Given the description of an element on the screen output the (x, y) to click on. 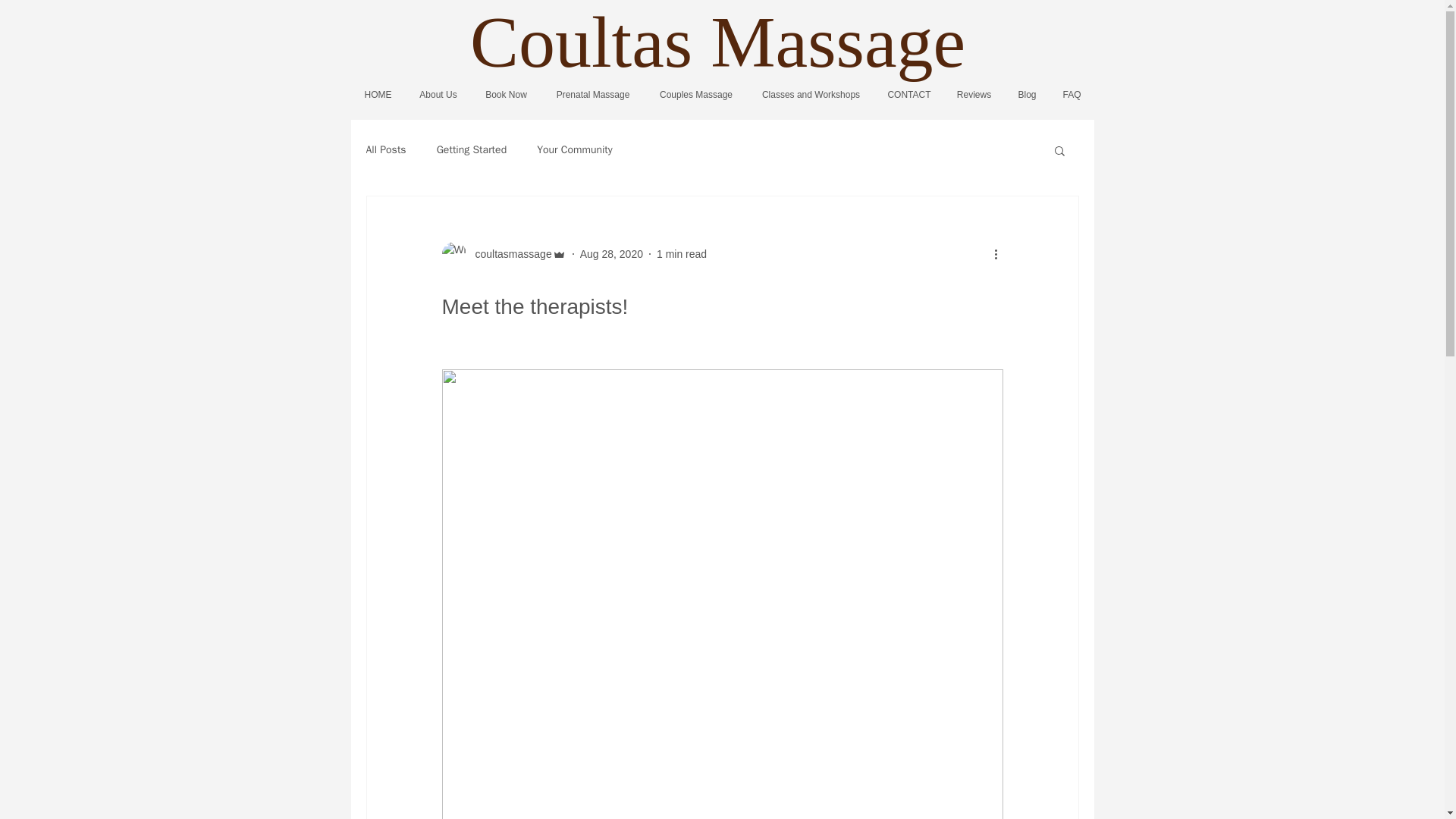
Couples Massage (695, 95)
coultasmassage (503, 253)
Reviews (973, 95)
FAQ (1071, 95)
Getting Started (471, 150)
CONTACT (909, 95)
All Posts (385, 150)
Coultas Massage (717, 41)
Book Now (506, 95)
About Us (437, 95)
